Given the description of an element on the screen output the (x, y) to click on. 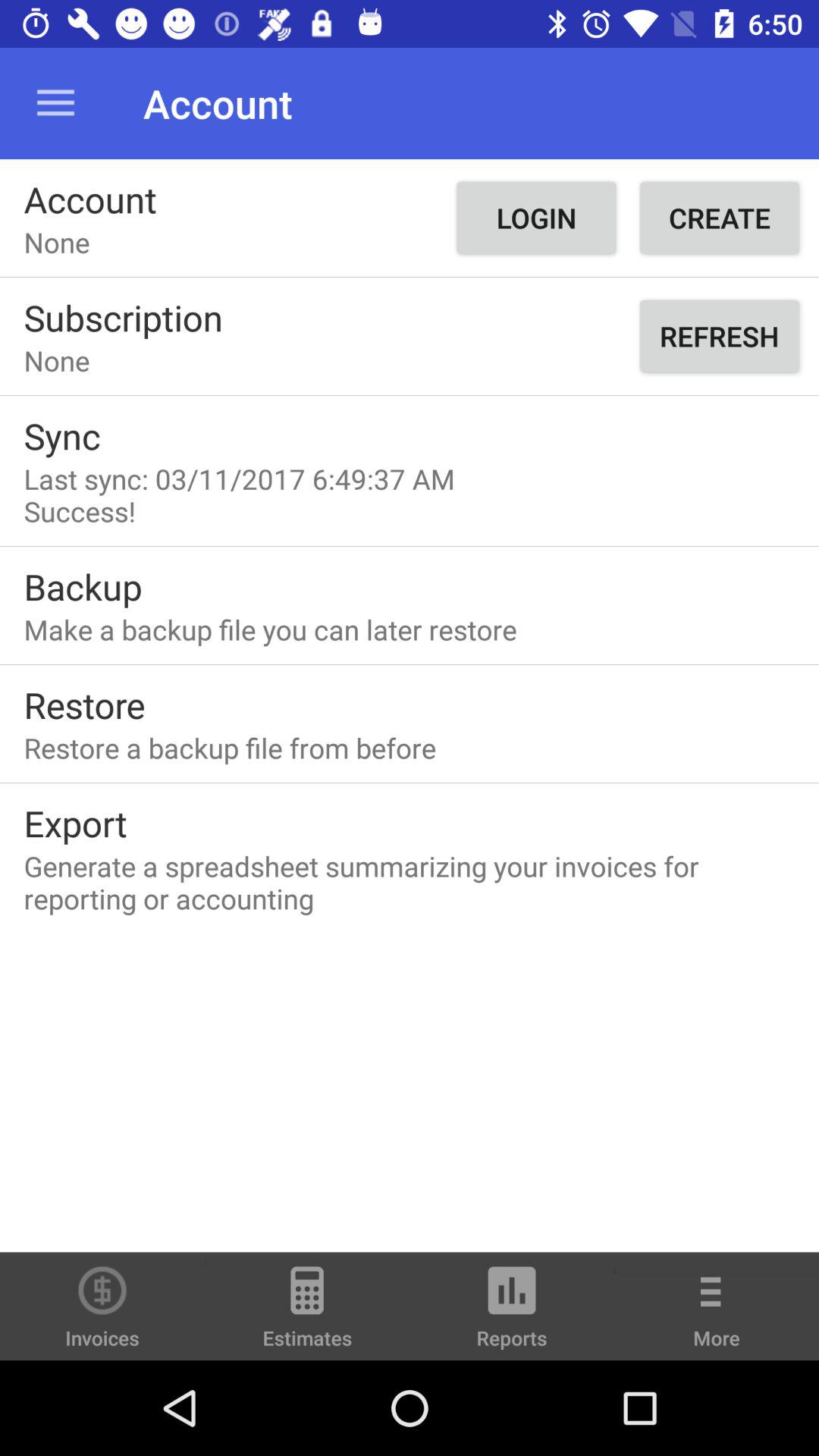
choose the item to the right of the invoices icon (306, 1313)
